Given the description of an element on the screen output the (x, y) to click on. 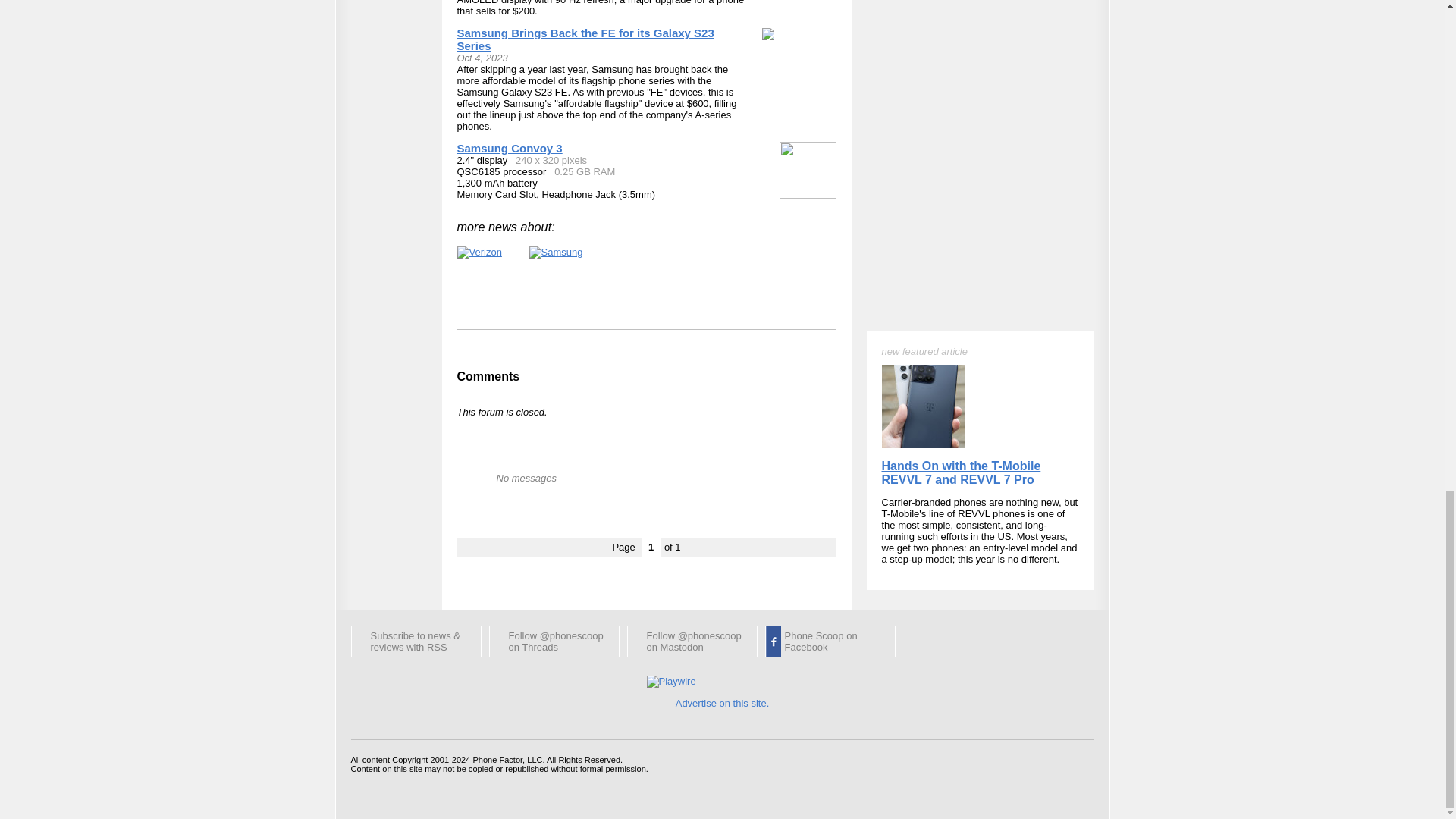
Verizon (478, 252)
Samsung (556, 252)
Comments (488, 376)
Phone Scoop - Latest News (415, 641)
